Given the description of an element on the screen output the (x, y) to click on. 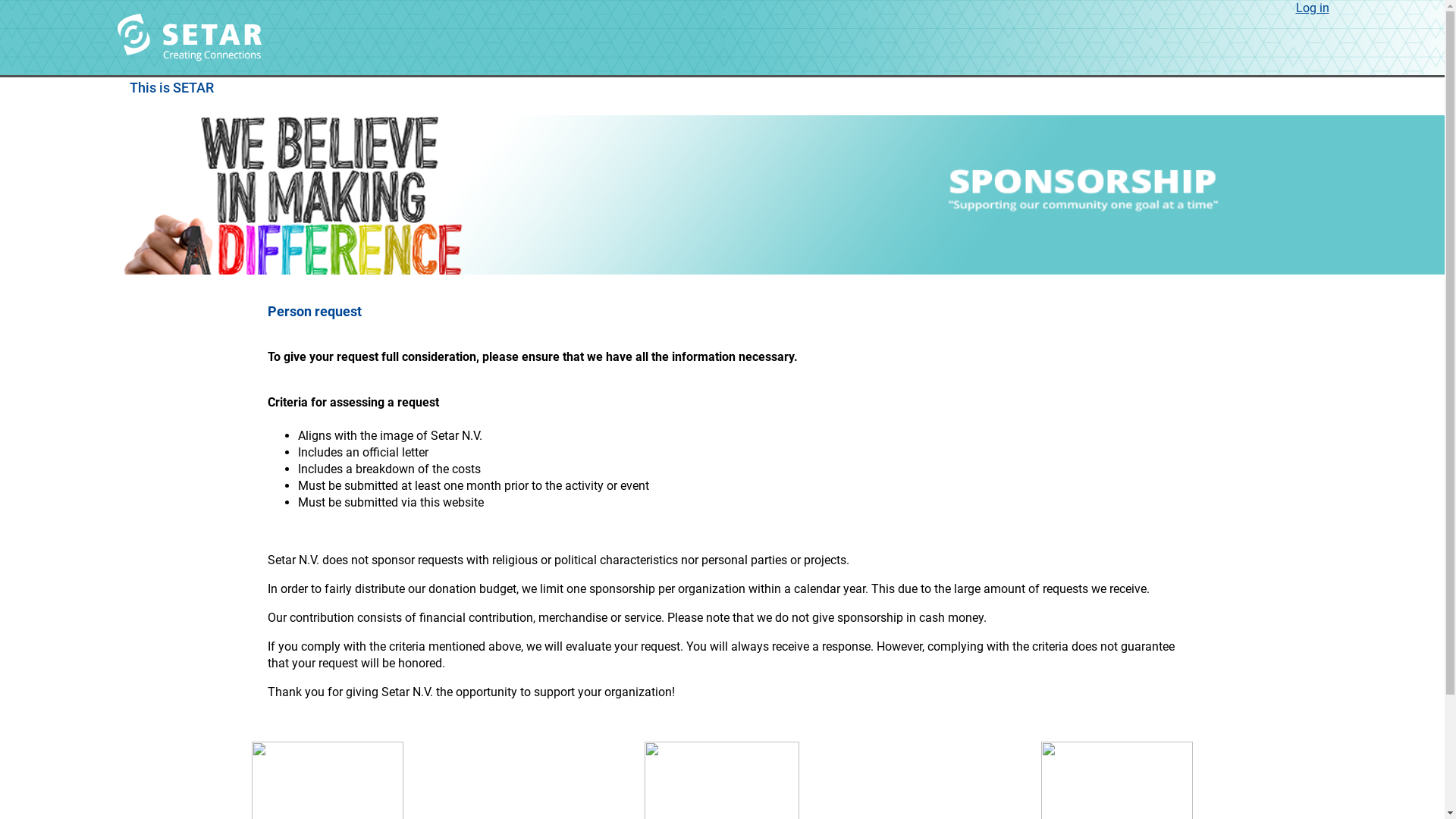
Log in Element type: text (1311, 8)
This is SETAR Element type: text (171, 87)
